Given the description of an element on the screen output the (x, y) to click on. 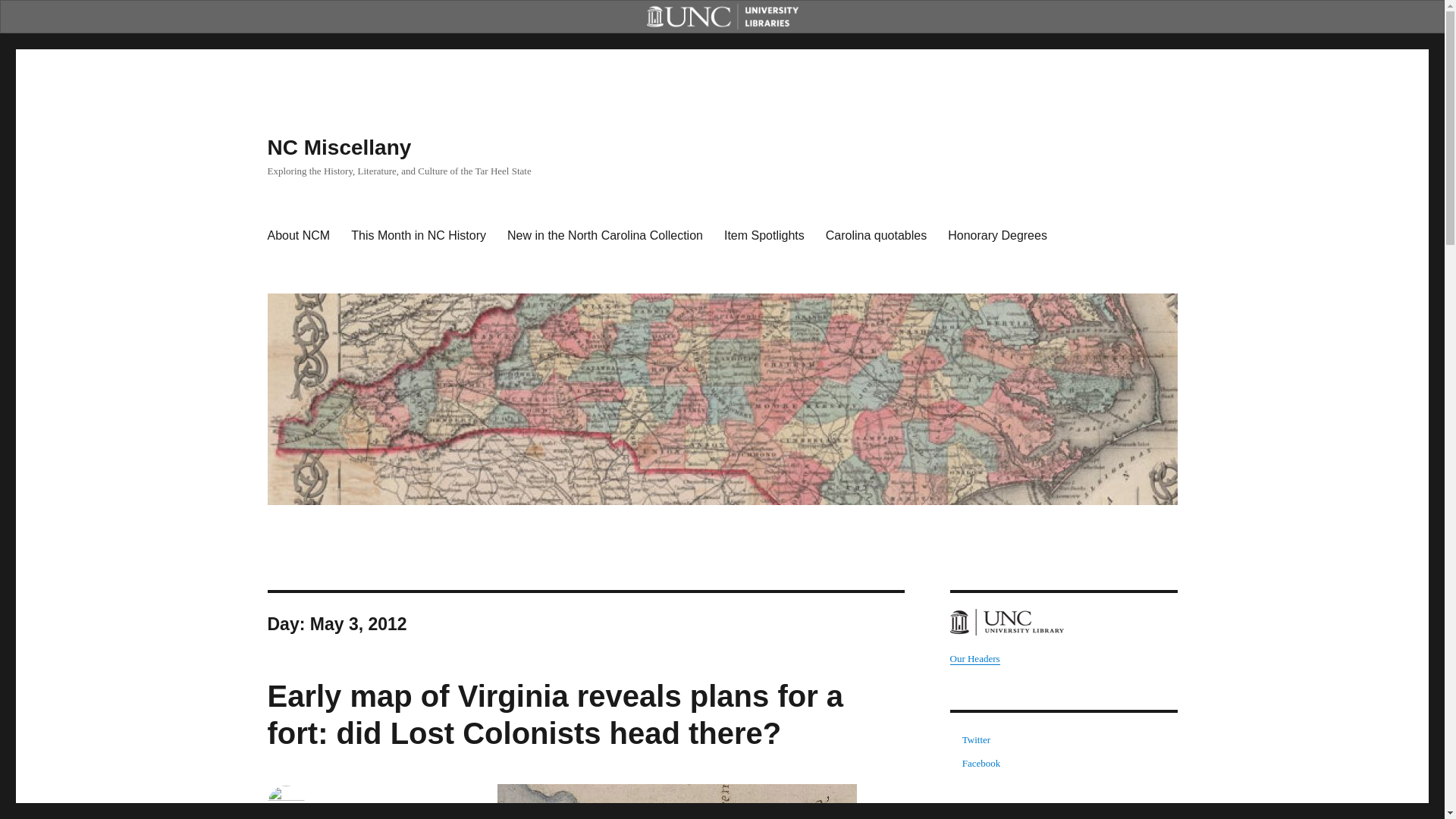
New in the North Carolina Collection (604, 234)
This Month in NC History (418, 234)
NC Miscellany on Facebook (981, 763)
About NCM (298, 234)
Our Headers (973, 658)
Carolina quotables (876, 234)
Item Spotlights (764, 234)
NC Miscellany (338, 146)
Honorary Degrees (997, 234)
